Given the description of an element on the screen output the (x, y) to click on. 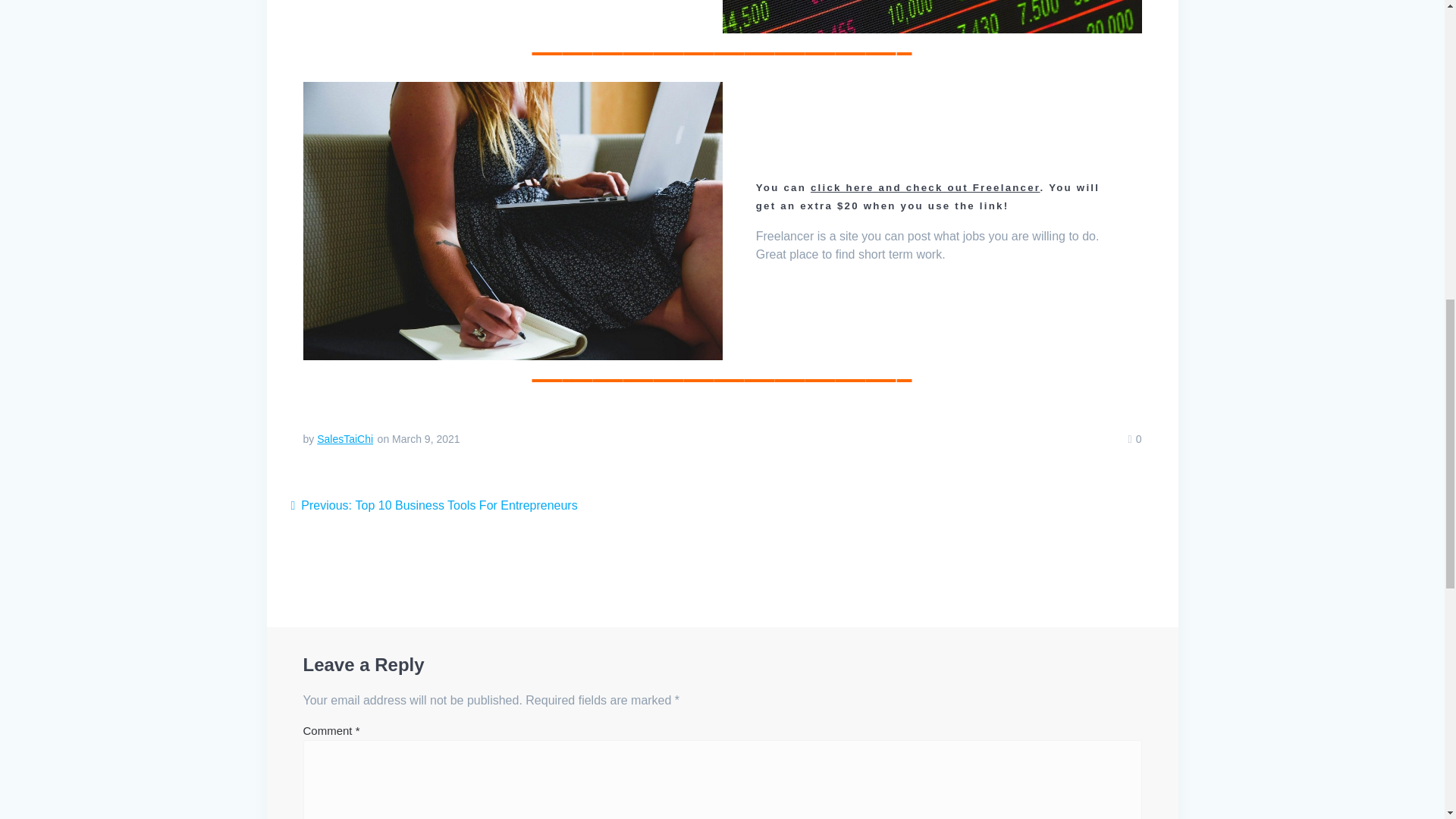
click here and check out Freelancer (925, 187)
Posts by SalesTaiChi (344, 439)
SalesTaiChi (344, 439)
